Given the description of an element on the screen output the (x, y) to click on. 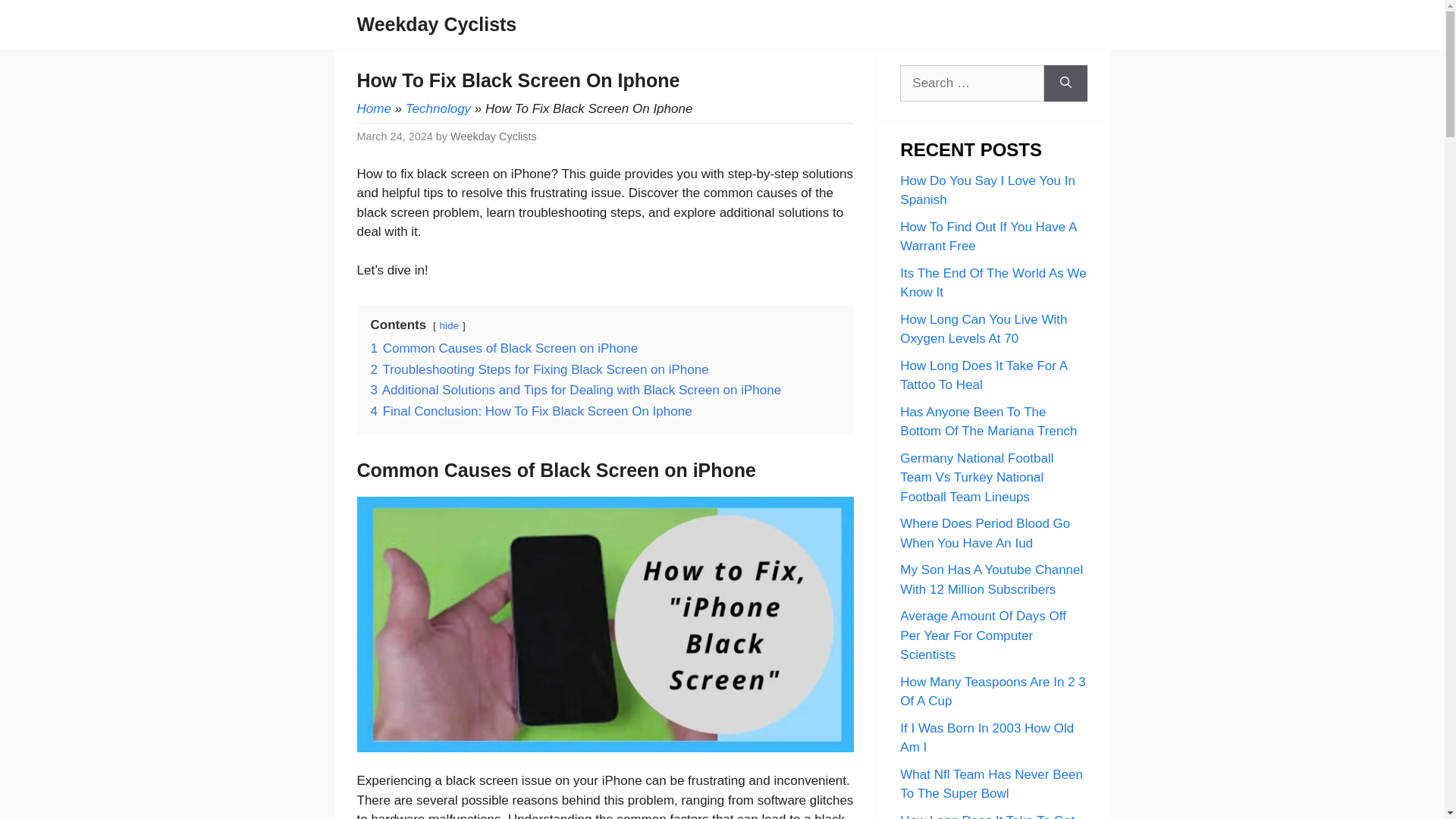
What Nfl Team Has Never Been To The Super Bowl (991, 784)
Technology (438, 108)
2 Troubleshooting Steps for Fixing Black Screen on iPhone (538, 369)
Has Anyone Been To The Bottom Of The Mariana Trench (988, 421)
Home (373, 108)
Its The End Of The World As We Know It (992, 282)
Weekday Cyclists (436, 24)
Average Amount Of Days Off Per Year For Computer Scientists (982, 635)
1 Common Causes of Black Screen on iPhone (503, 348)
My Son Has A Youtube Channel With 12 Million Subscribers (991, 579)
Where Does Period Blood Go When You Have An Iud (984, 533)
How Do You Say I Love You In Spanish (987, 189)
Iphone screen fix pro (604, 623)
How Long Does It Take For A Tattoo To Heal (983, 374)
